Given the description of an element on the screen output the (x, y) to click on. 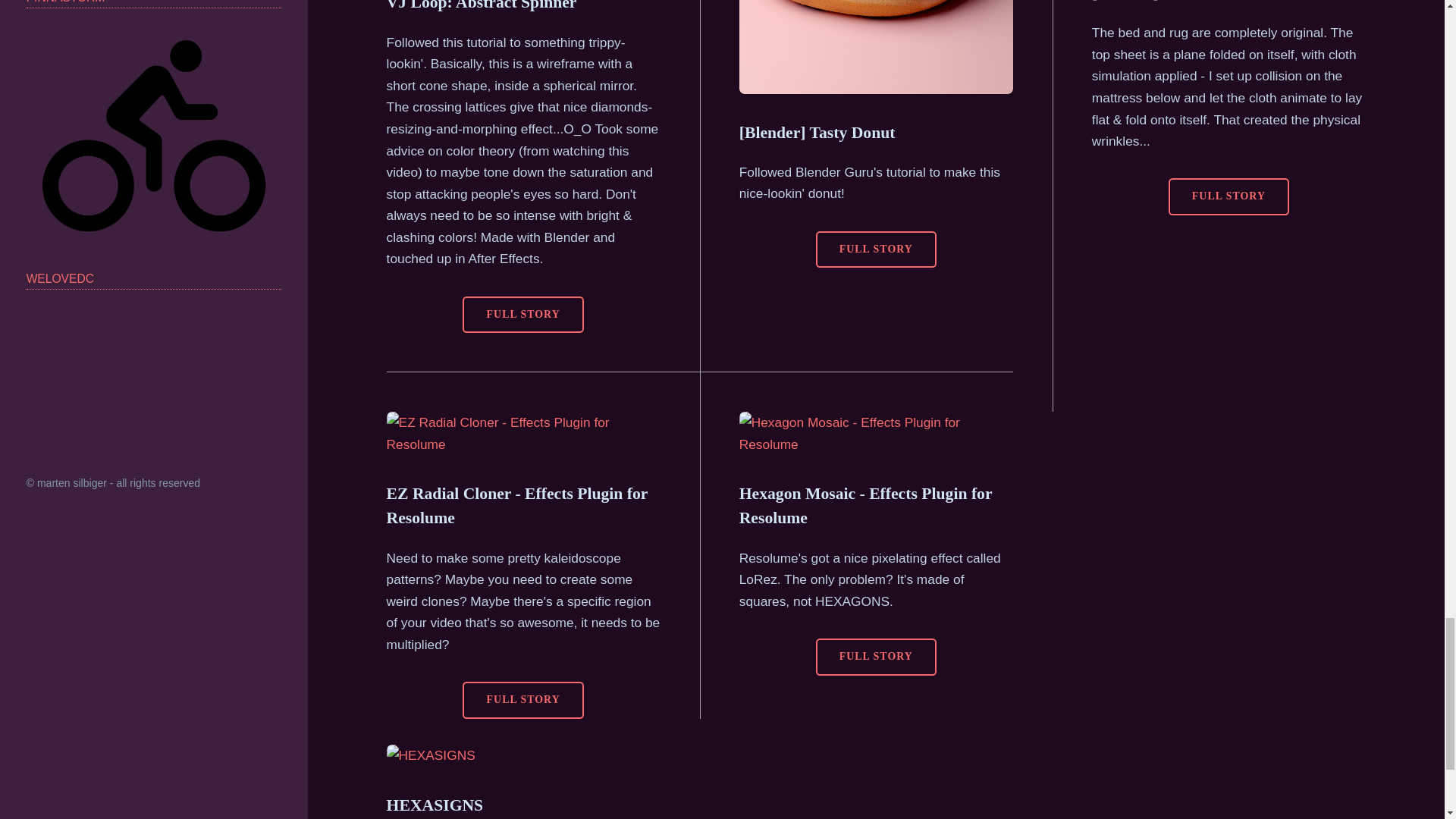
Hexagon Mosaic - Effects Plugin for Resolume (865, 505)
EZ Radial Cloner - Effects Plugin for Resolume (517, 505)
FULL STORY (523, 700)
FULL STORY (523, 314)
VJ Loop: Abstract Spinner (481, 5)
FULL STORY (875, 656)
FULL STORY (1228, 196)
FULL STORY (875, 249)
HEXASIGNS (435, 805)
